Given the description of an element on the screen output the (x, y) to click on. 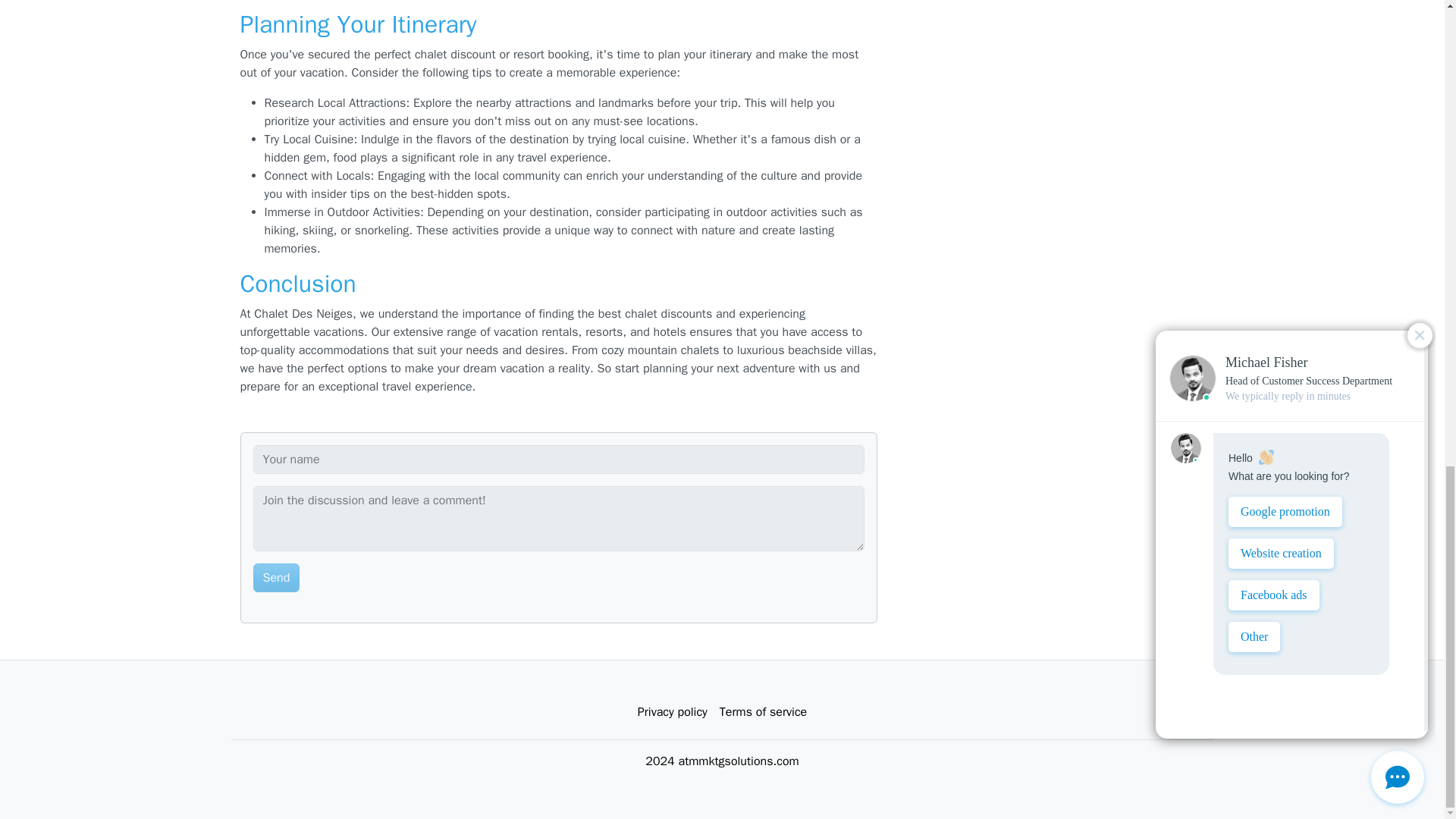
Send (276, 577)
Terms of service (762, 711)
Send (276, 577)
Privacy policy (672, 711)
